Given the description of an element on the screen output the (x, y) to click on. 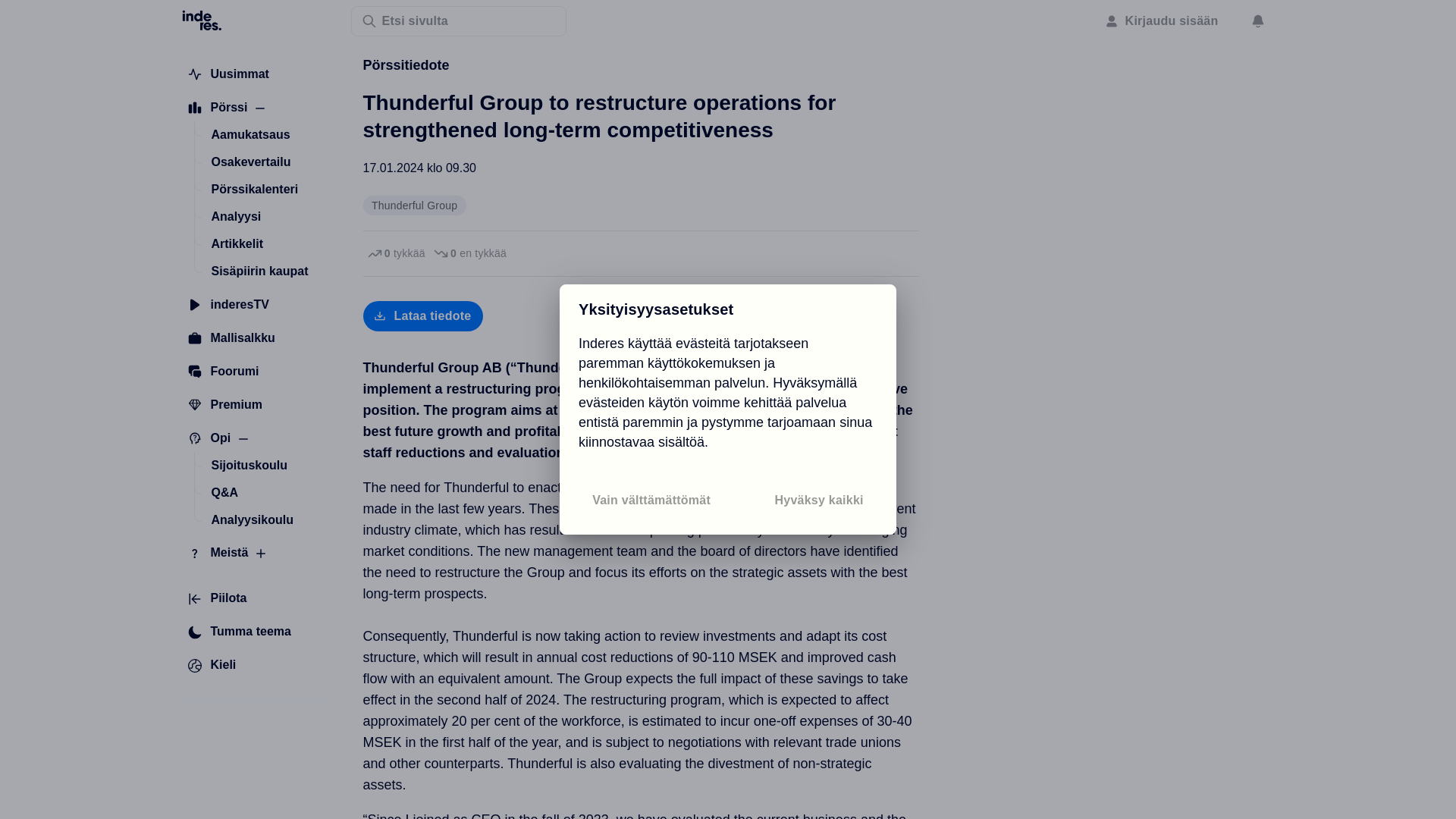
Artikkelit (236, 243)
Kieli (211, 665)
Etsi sivulta (458, 20)
Analyysi (235, 216)
Premium (223, 404)
17.01.2024 klo 09.30 (419, 168)
Opi (208, 438)
Uusimmat (227, 73)
Osakevertailu (250, 162)
Piilota (216, 598)
